Given the description of an element on the screen output the (x, y) to click on. 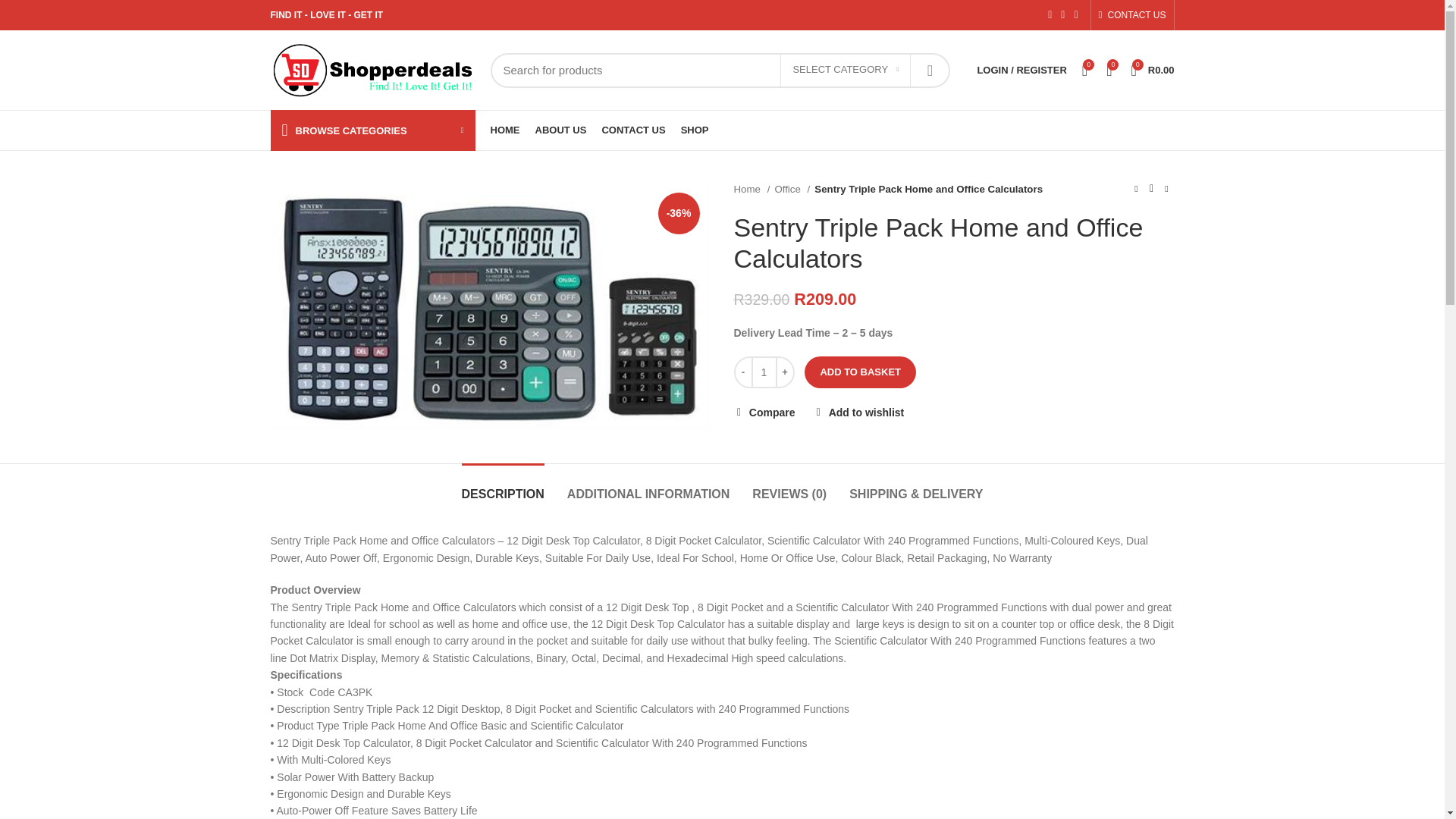
My account (1021, 69)
SELECT CATEGORY (845, 70)
SELECT CATEGORY (845, 70)
Shopping cart (1151, 69)
Search for products (719, 70)
CONTACT US (1131, 15)
